Given the description of an element on the screen output the (x, y) to click on. 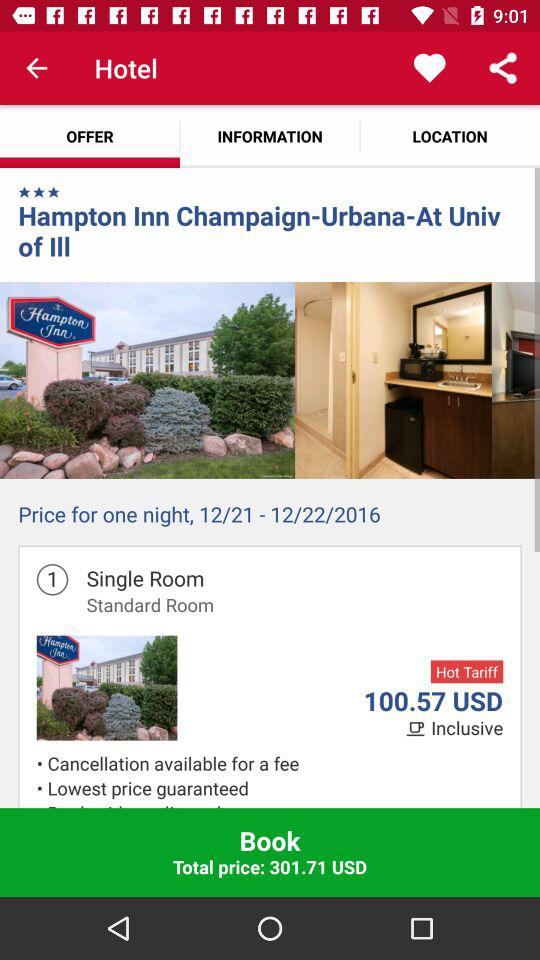
tap the price for one item (269, 518)
